Given the description of an element on the screen output the (x, y) to click on. 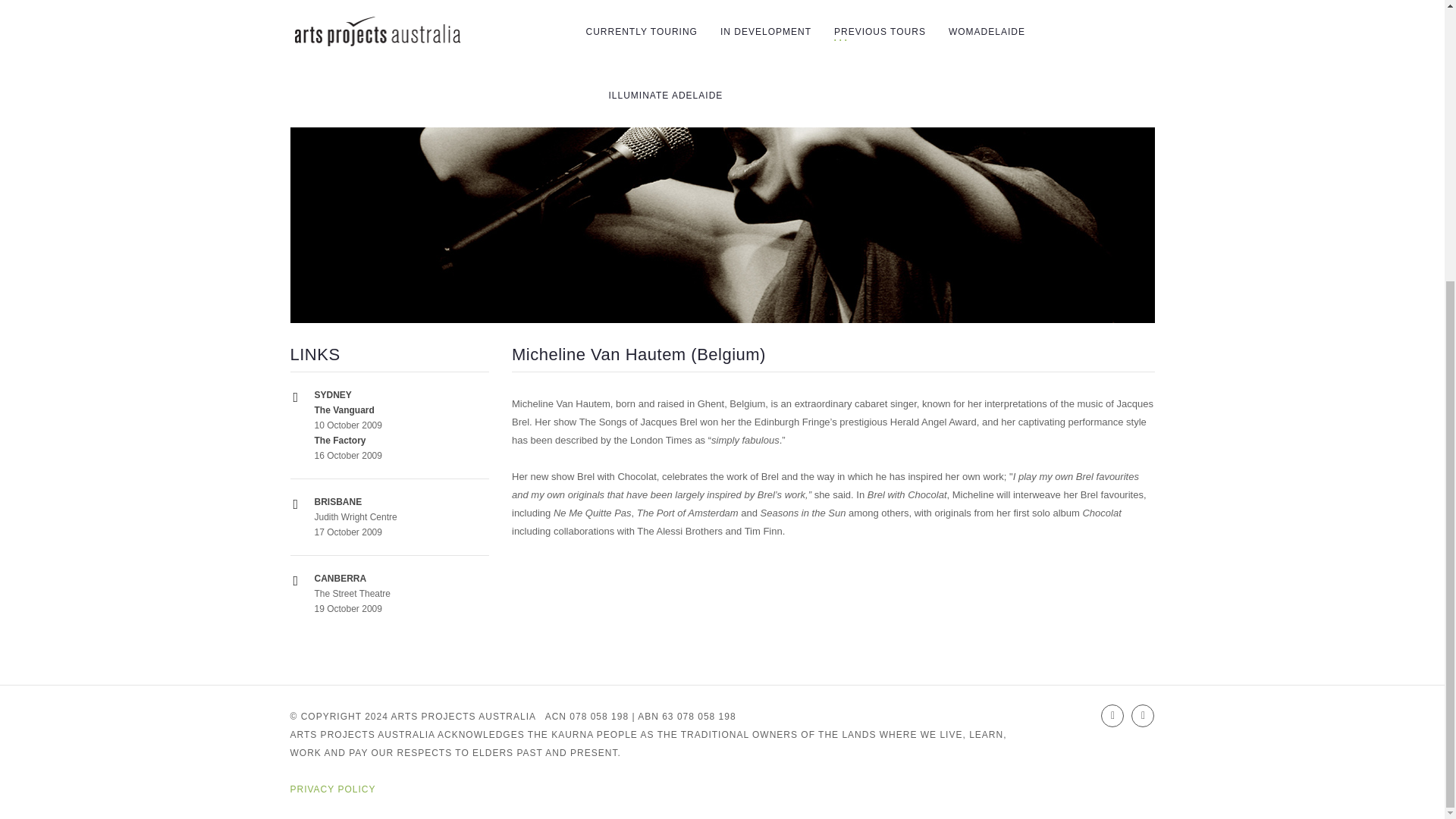
PRIVACY POLICY (332, 788)
Privacy Policy (332, 788)
